Given the description of an element on the screen output the (x, y) to click on. 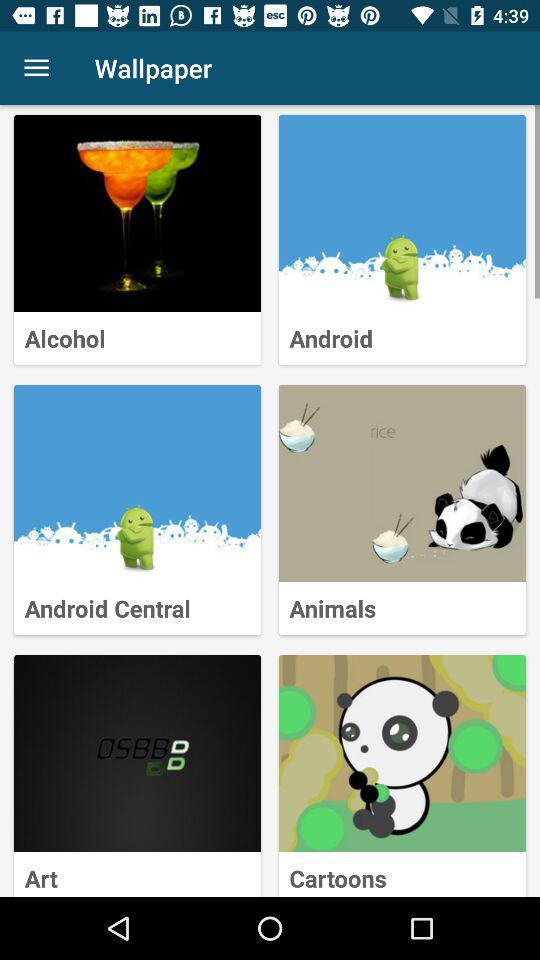
change wallpaper (402, 213)
